Given the description of an element on the screen output the (x, y) to click on. 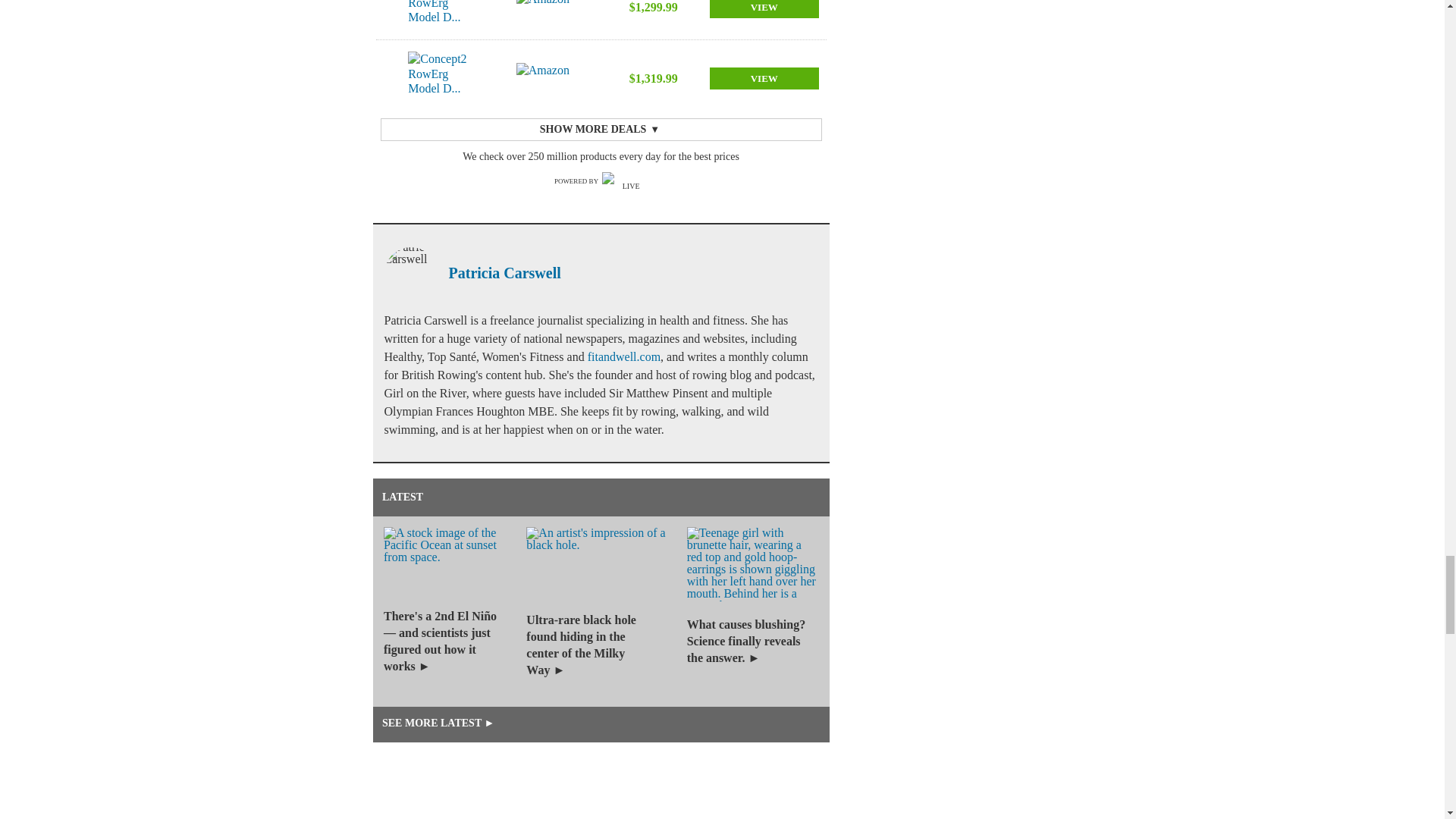
Amazon (546, 78)
Live Science (624, 180)
Concept2 RowErg Model D... (437, 77)
Concept2 RowErg Model D... (437, 16)
Amazon (546, 11)
